Given the description of an element on the screen output the (x, y) to click on. 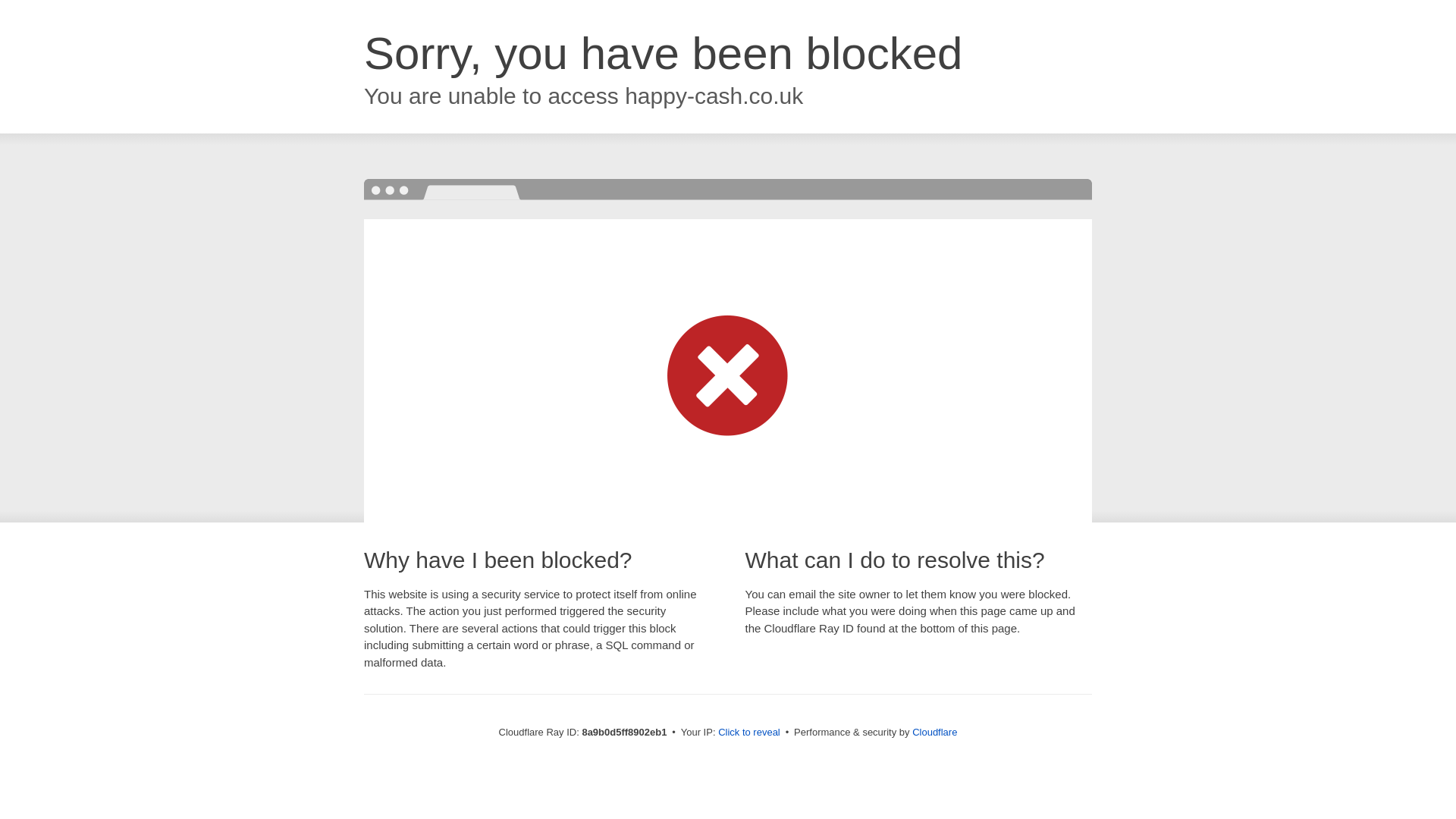
Click to reveal (748, 732)
Cloudflare (934, 731)
